Given the description of an element on the screen output the (x, y) to click on. 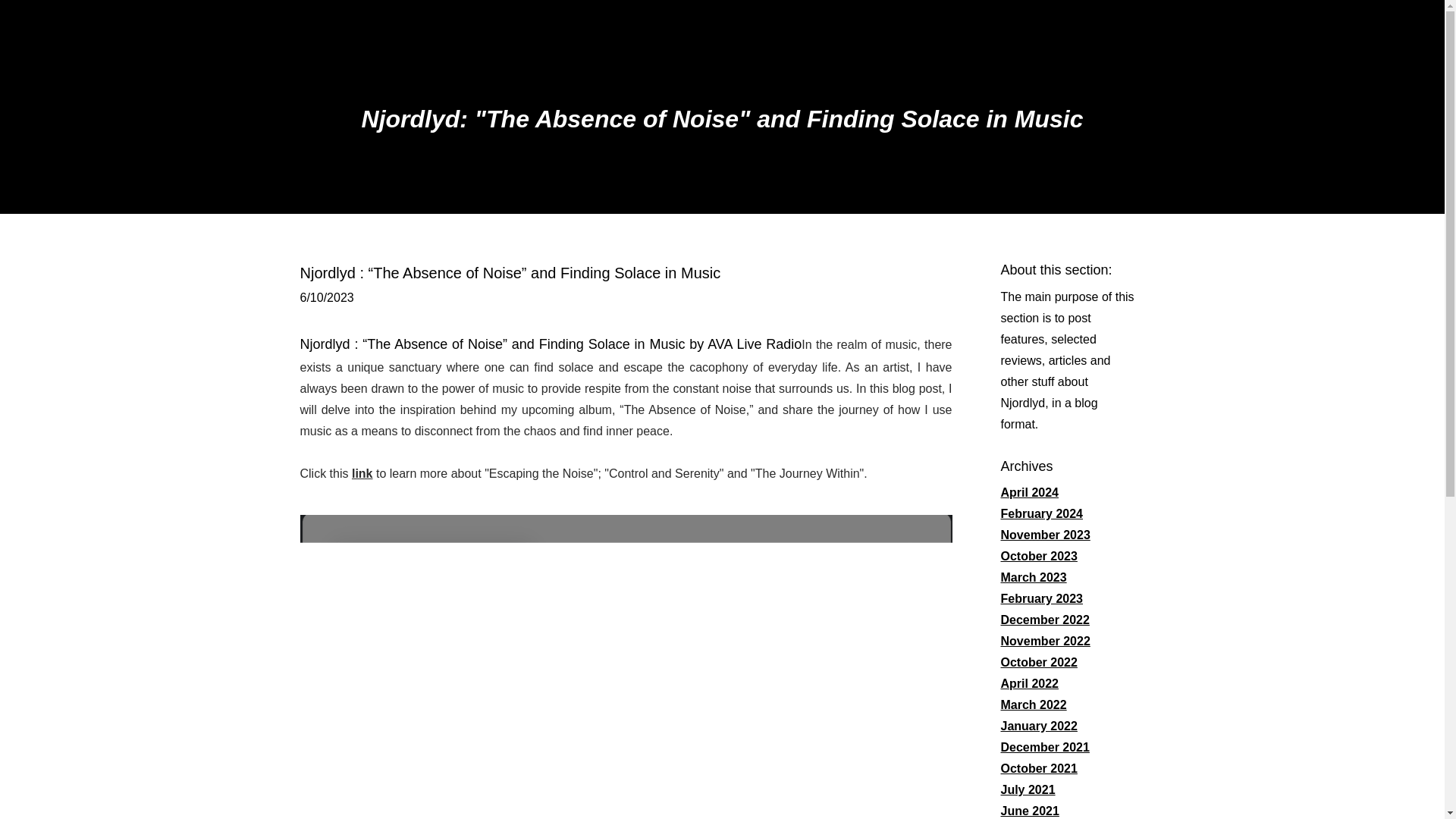
June 2021 (1030, 810)
July 2021 (1028, 789)
October 2021 (1039, 768)
November 2023 (1045, 534)
October 2022 (1039, 662)
December 2021 (1045, 747)
December 2022 (1045, 619)
November 2022 (1045, 640)
October 2023 (1039, 555)
link (362, 472)
